Given the description of an element on the screen output the (x, y) to click on. 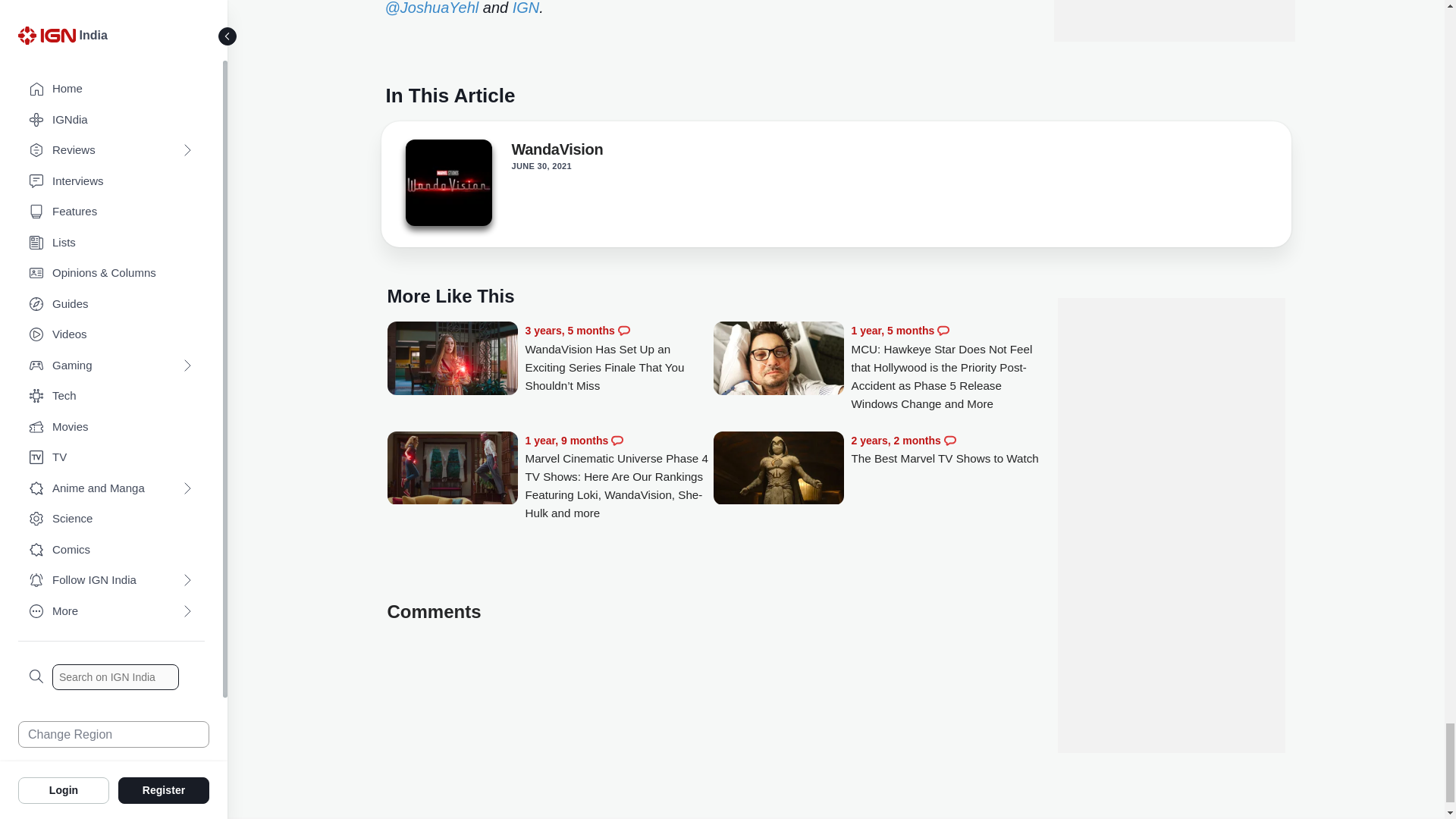
WandaVision (448, 182)
WandaVision (556, 151)
WandaVision (448, 187)
The Best Marvel TV Shows to Watch (944, 449)
The Best Marvel TV Shows to Watch (778, 469)
